Given the description of an element on the screen output the (x, y) to click on. 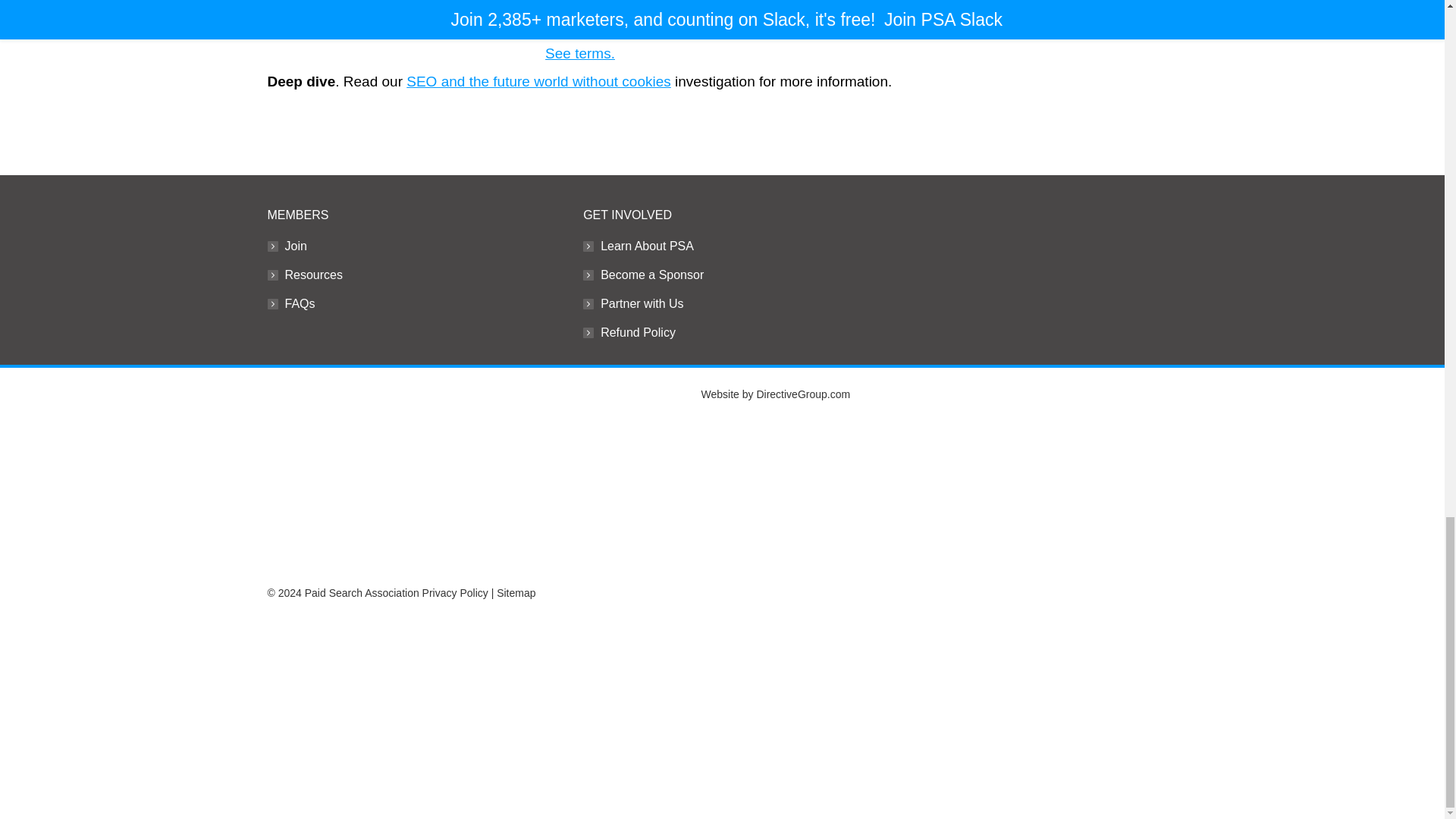
Subscribe (300, 7)
SEO and the future world without cookies (538, 81)
See terms. (579, 53)
